Given the description of an element on the screen output the (x, y) to click on. 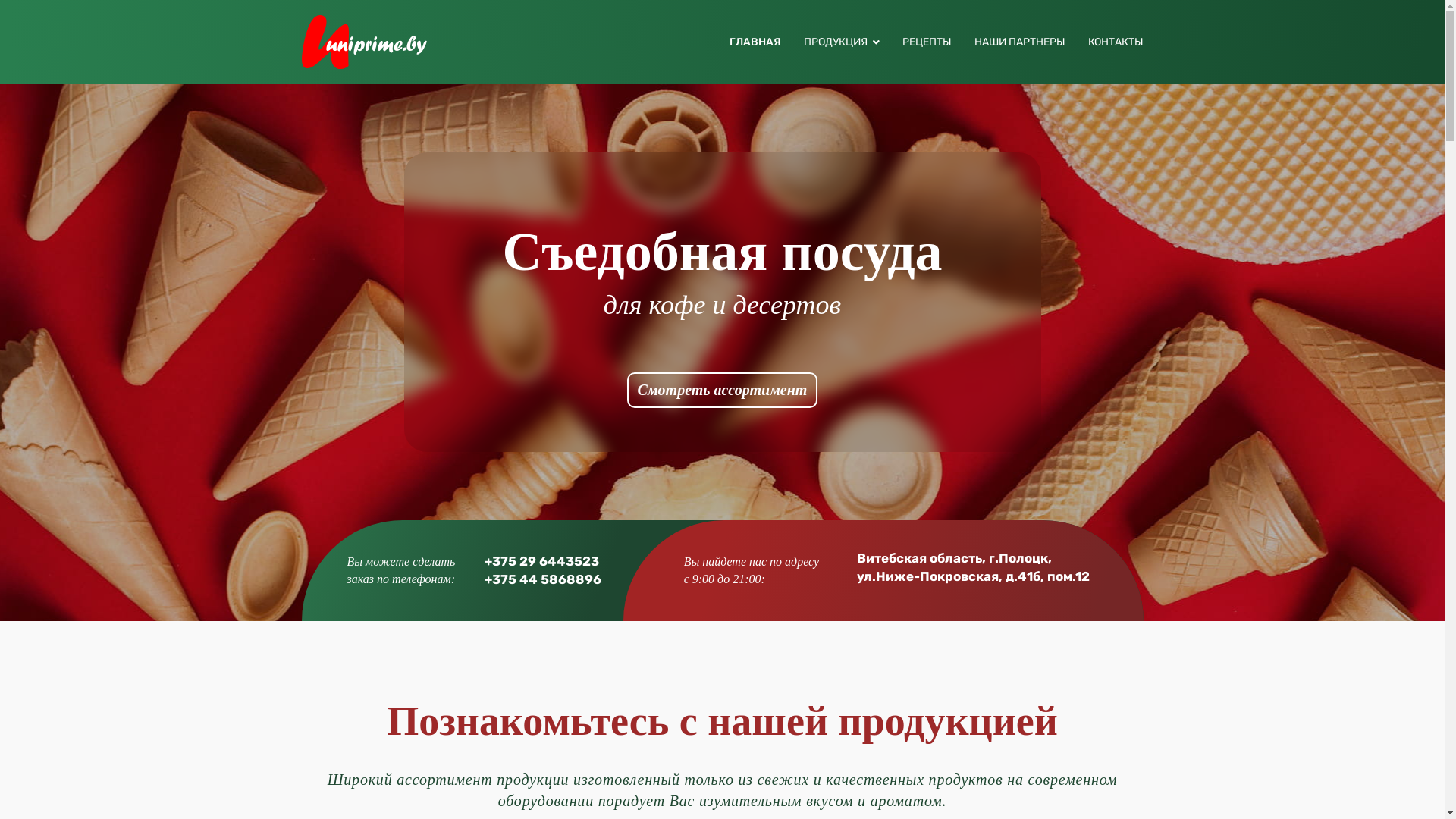
+375 44 5868896 Element type: text (542, 578)
+375 29 6443523 Element type: text (541, 560)
